Given the description of an element on the screen output the (x, y) to click on. 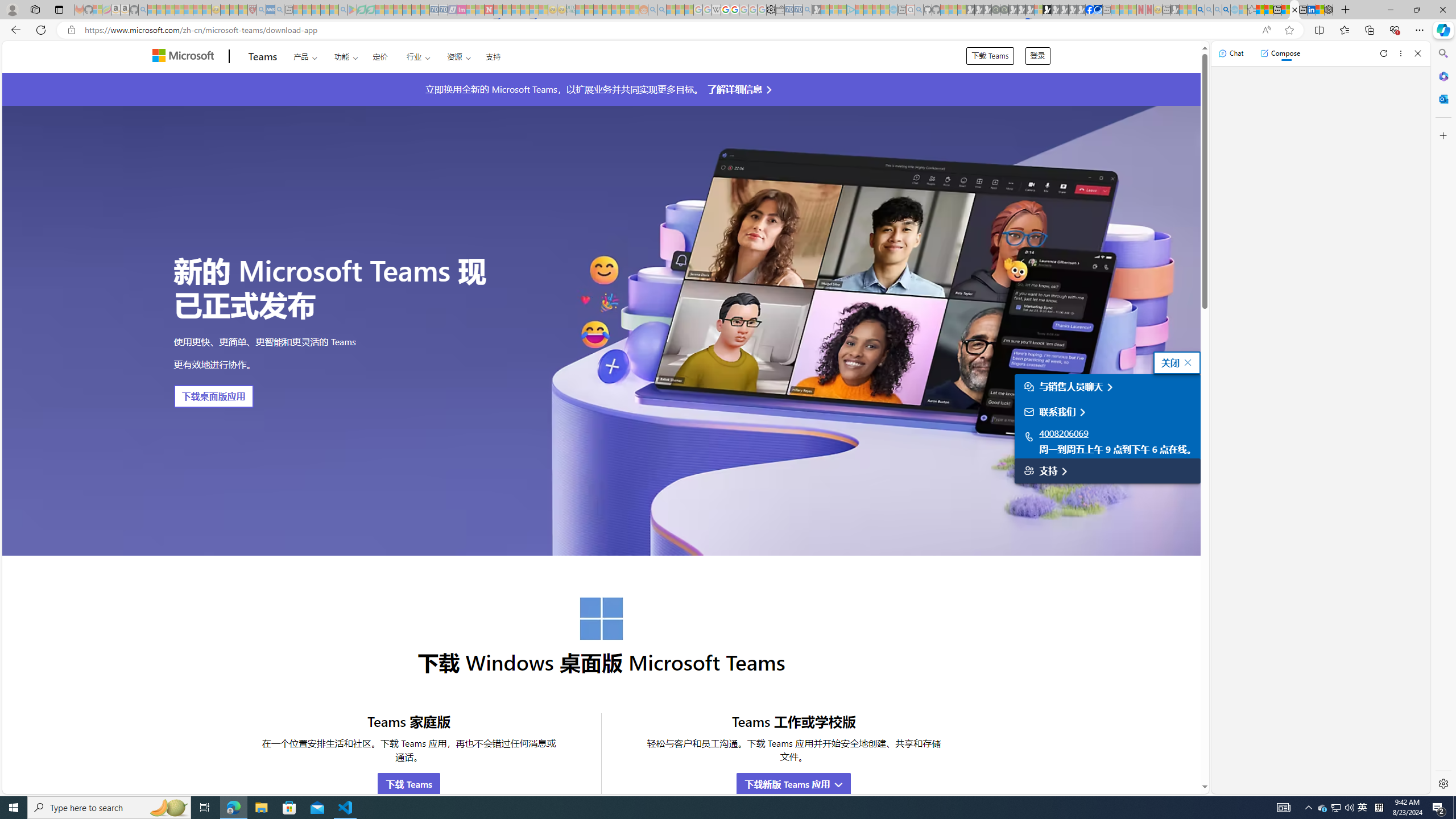
Microsoft-Report a Concern to Bing - Sleeping (97, 9)
Trusted Community Engagement and Contributions | Guidelines (497, 9)
Cheap Car Rentals - Save70.com - Sleeping (798, 9)
